Given the description of an element on the screen output the (x, y) to click on. 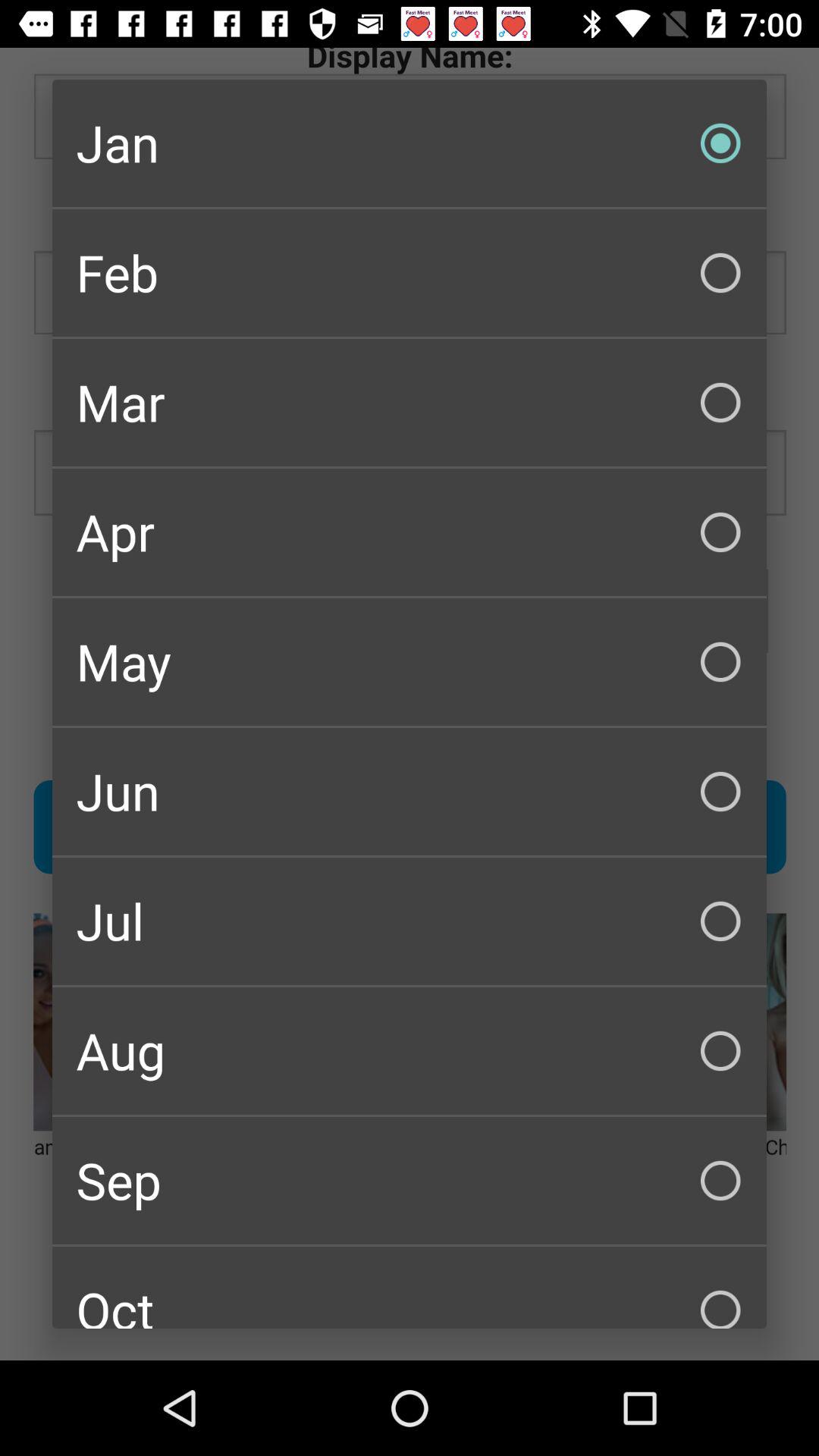
choose the feb (409, 272)
